Given the description of an element on the screen output the (x, y) to click on. 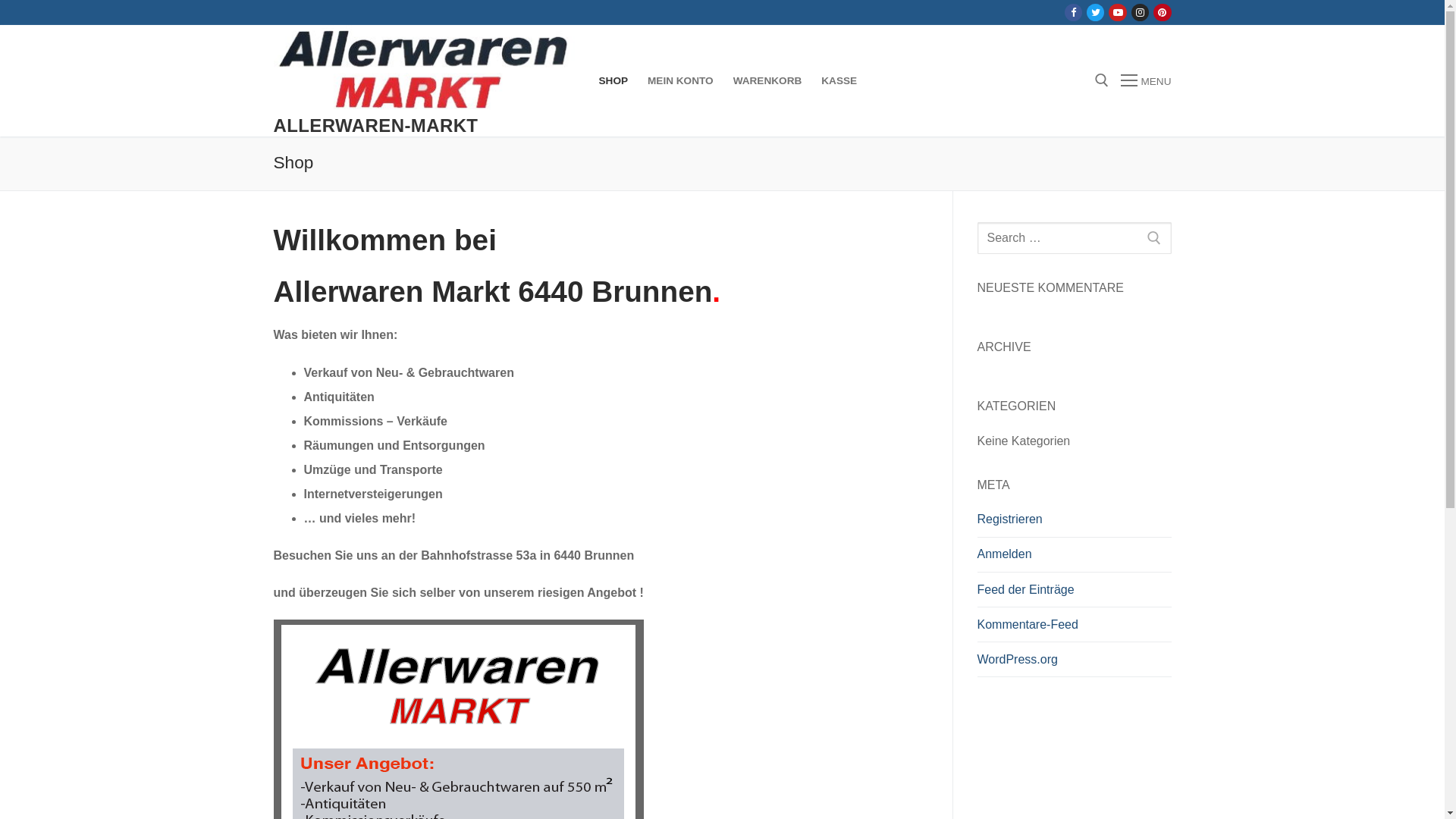
Youtube Element type: hover (1118, 12)
WARENKORB Element type: text (767, 80)
WordPress.org Element type: text (1073, 663)
MEIN KONTO Element type: text (680, 80)
Suchen nach: Element type: hover (1073, 238)
Instagram Element type: hover (1140, 12)
MENU Element type: text (1145, 81)
Kommentare-Feed Element type: text (1073, 628)
SHOP Element type: text (612, 80)
Twitter Element type: hover (1095, 12)
Pinterest Element type: hover (1162, 12)
KASSE Element type: text (838, 80)
Anmelden Element type: text (1073, 557)
Facebook Element type: hover (1073, 12)
ALLERWAREN-MARKT Element type: text (375, 125)
Registrieren Element type: text (1073, 522)
